Given the description of an element on the screen output the (x, y) to click on. 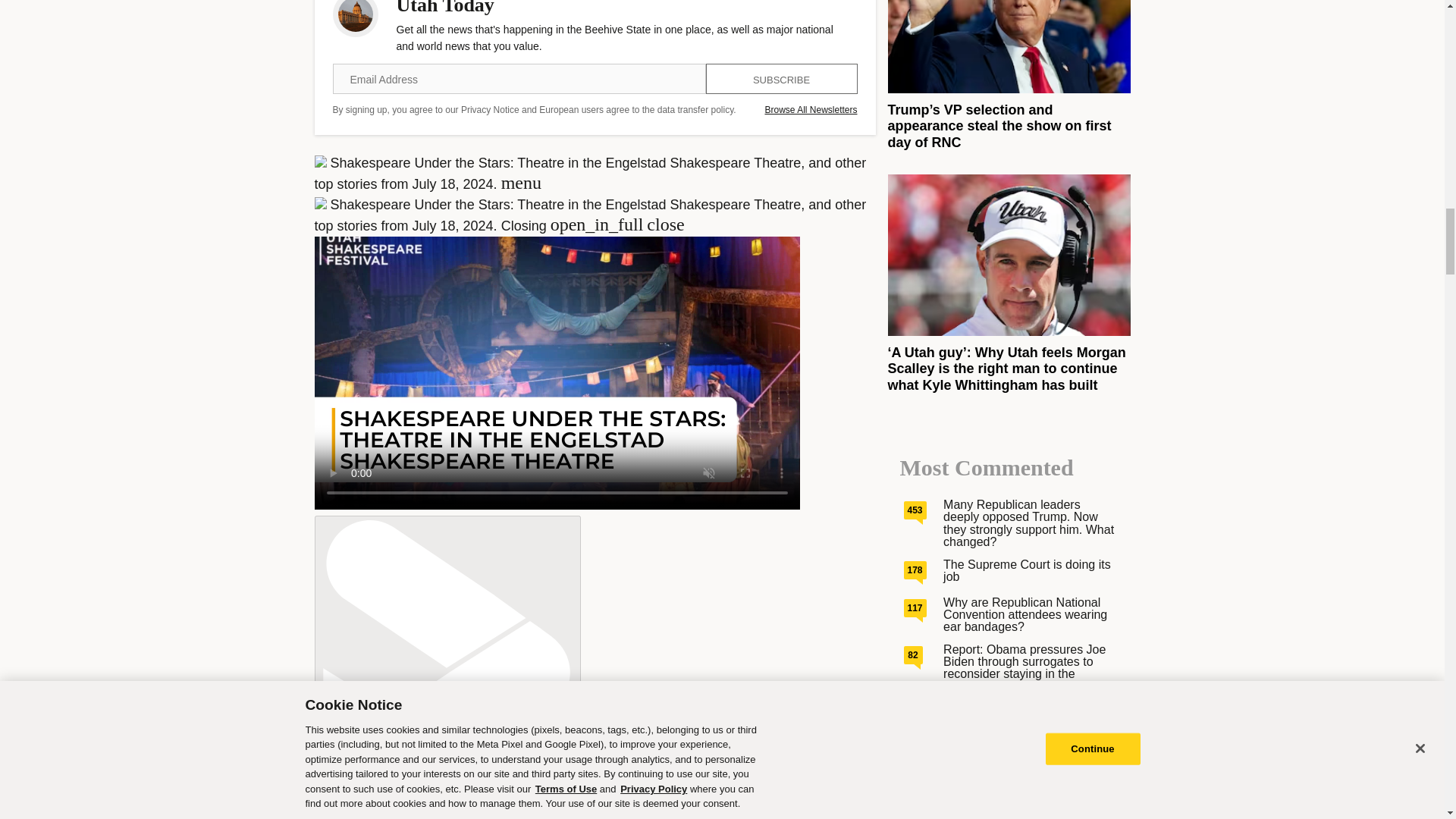
SUBSCRIBE (780, 78)
Browse All Newsletters (810, 109)
